Given the description of an element on the screen output the (x, y) to click on. 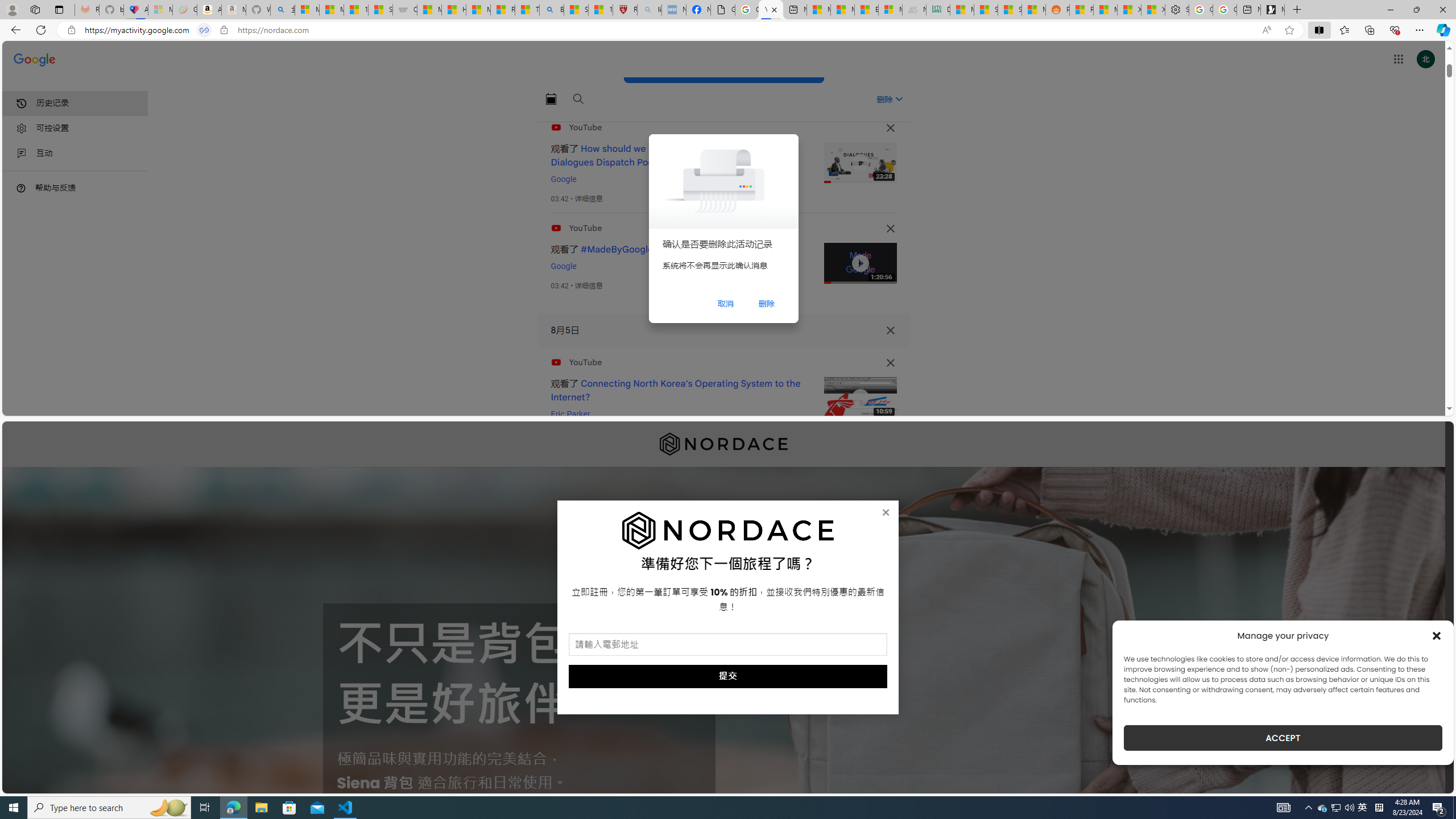
Class: TjcpUd NMm5M (889, 362)
Class: cmplz-close (1436, 635)
